Given the description of an element on the screen output the (x, y) to click on. 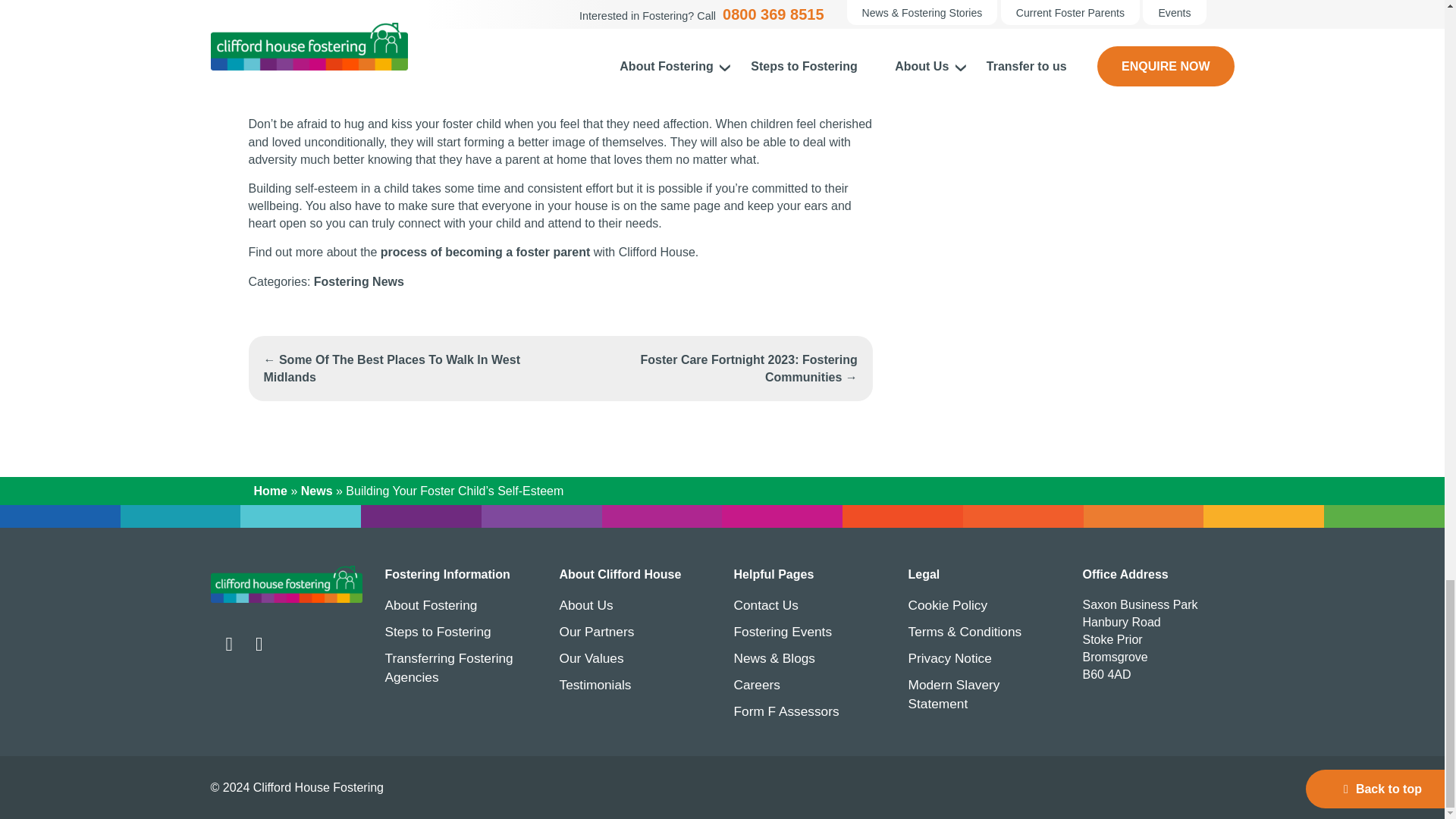
Fostering News (359, 281)
process of becoming a foster parent (485, 251)
Clifford House (286, 583)
Home (286, 583)
